Given the description of an element on the screen output the (x, y) to click on. 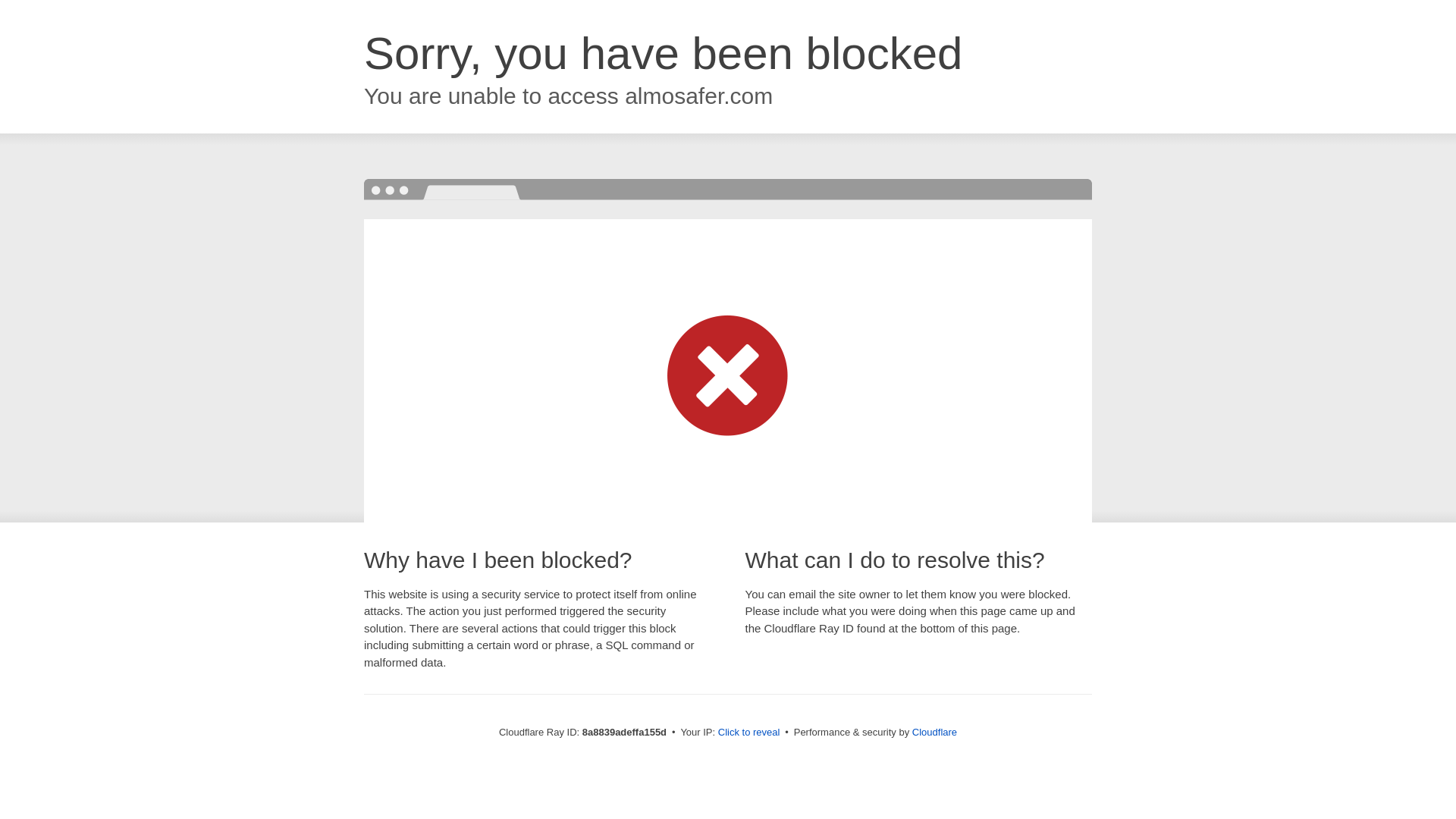
Cloudflare (934, 731)
Click to reveal (748, 732)
